Given the description of an element on the screen output the (x, y) to click on. 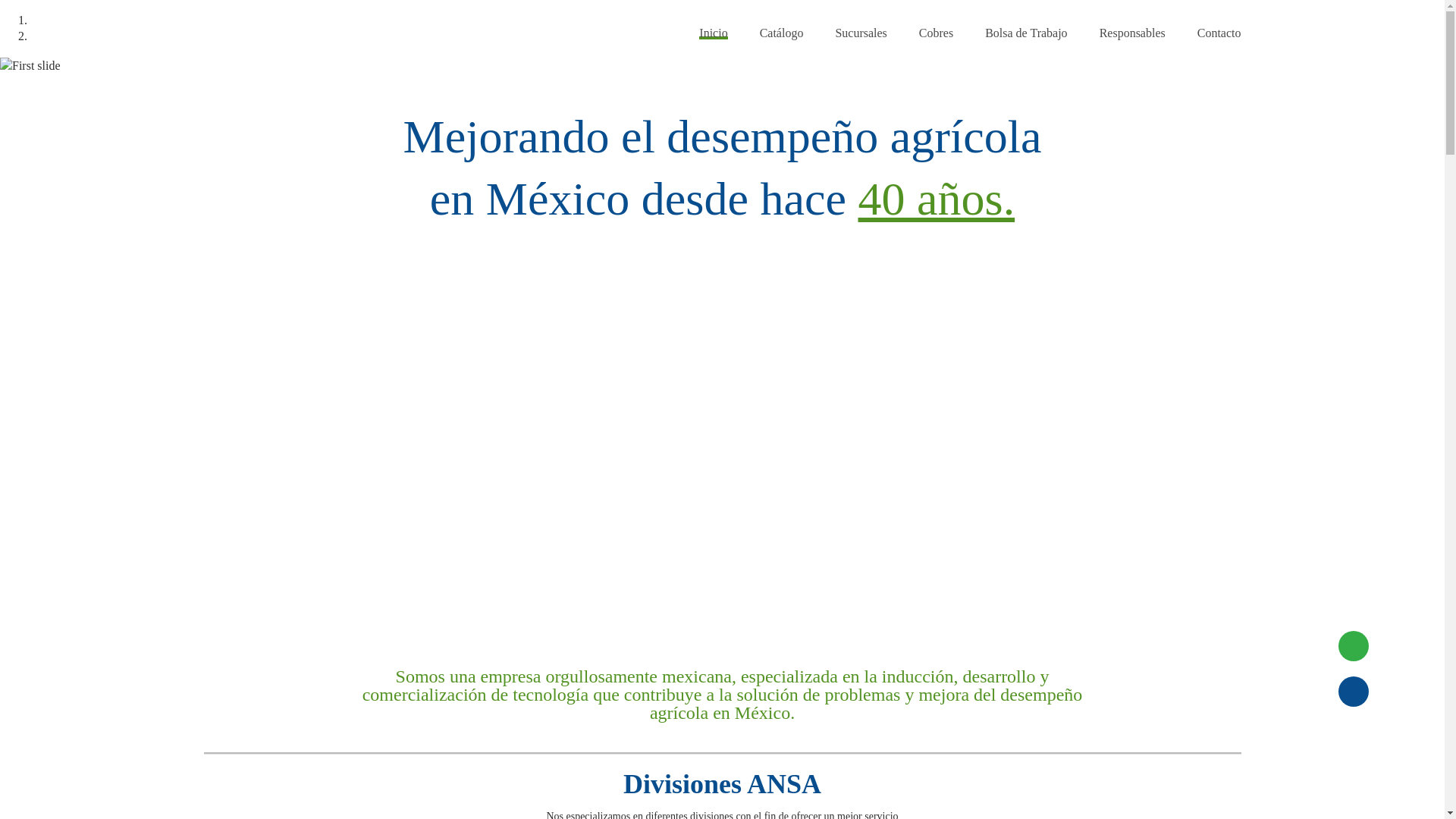
Responsables Element type: text (1132, 32)
Inicio Element type: text (713, 32)
Cobres Element type: text (936, 32)
Sucursales Element type: text (860, 32)
Bolsa de Trabajo Element type: text (1025, 32)
Contacto Element type: text (1219, 32)
